Given the description of an element on the screen output the (x, y) to click on. 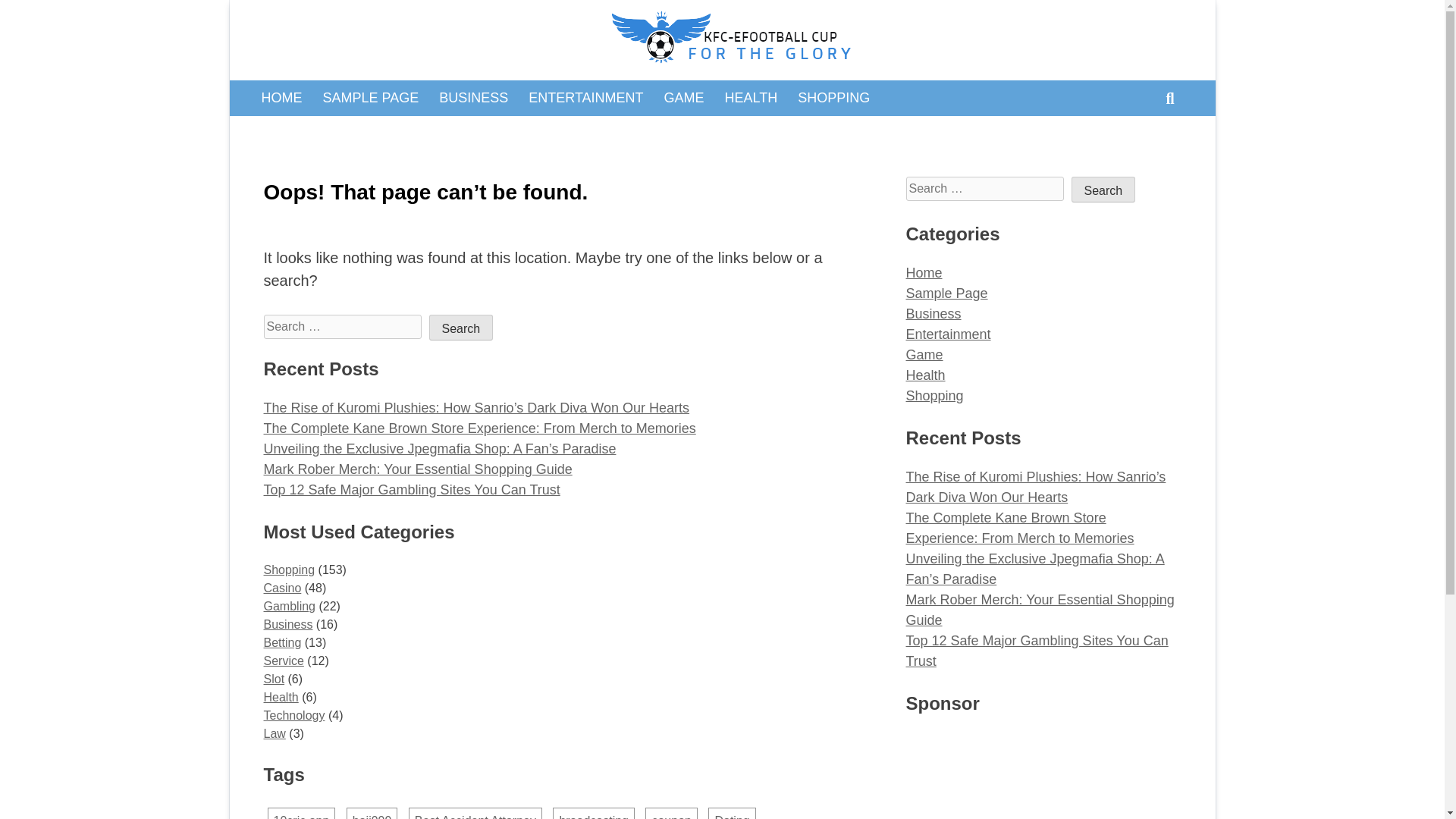
Health (280, 697)
10cric app (300, 813)
Betting (282, 642)
Service (283, 660)
Law (274, 733)
Top 12 Safe Major Gambling Sites You Can Trust (411, 489)
HEALTH (751, 97)
Dating (731, 813)
broadcasting (593, 813)
ENTERTAINMENT (585, 97)
SHOPPING (833, 97)
GAME (683, 97)
Search (1102, 189)
Search (461, 327)
Search (461, 327)
